Given the description of an element on the screen output the (x, y) to click on. 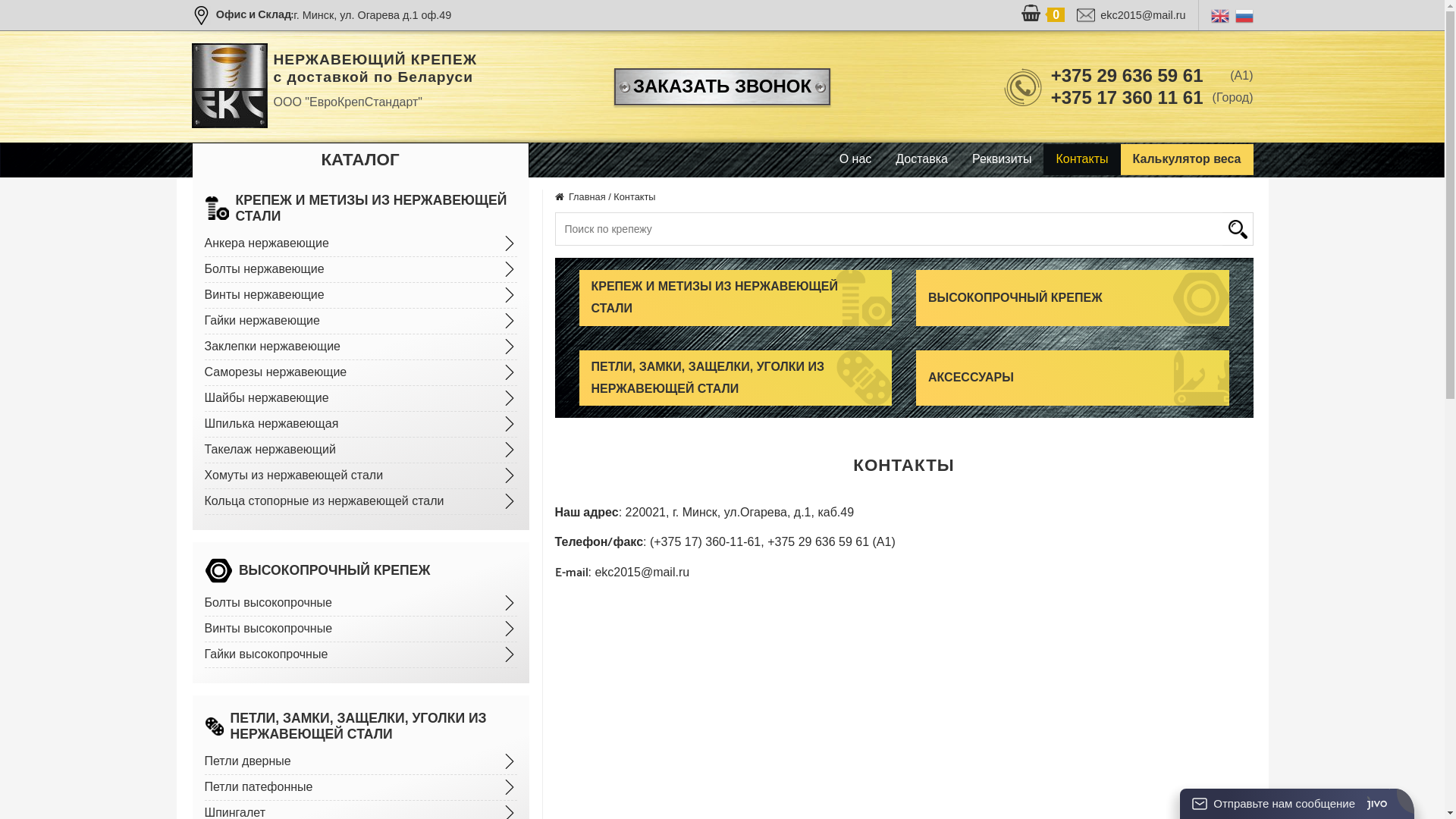
+375 29 636 59 61 Element type: text (1127, 76)
0 Element type: text (1042, 14)
+375 17 360 11 61 Element type: text (1127, 97)
ekc2015@mail.ru Element type: text (1130, 15)
English Element type: hover (1219, 14)
Russian Element type: hover (1243, 14)
